Given the description of an element on the screen output the (x, y) to click on. 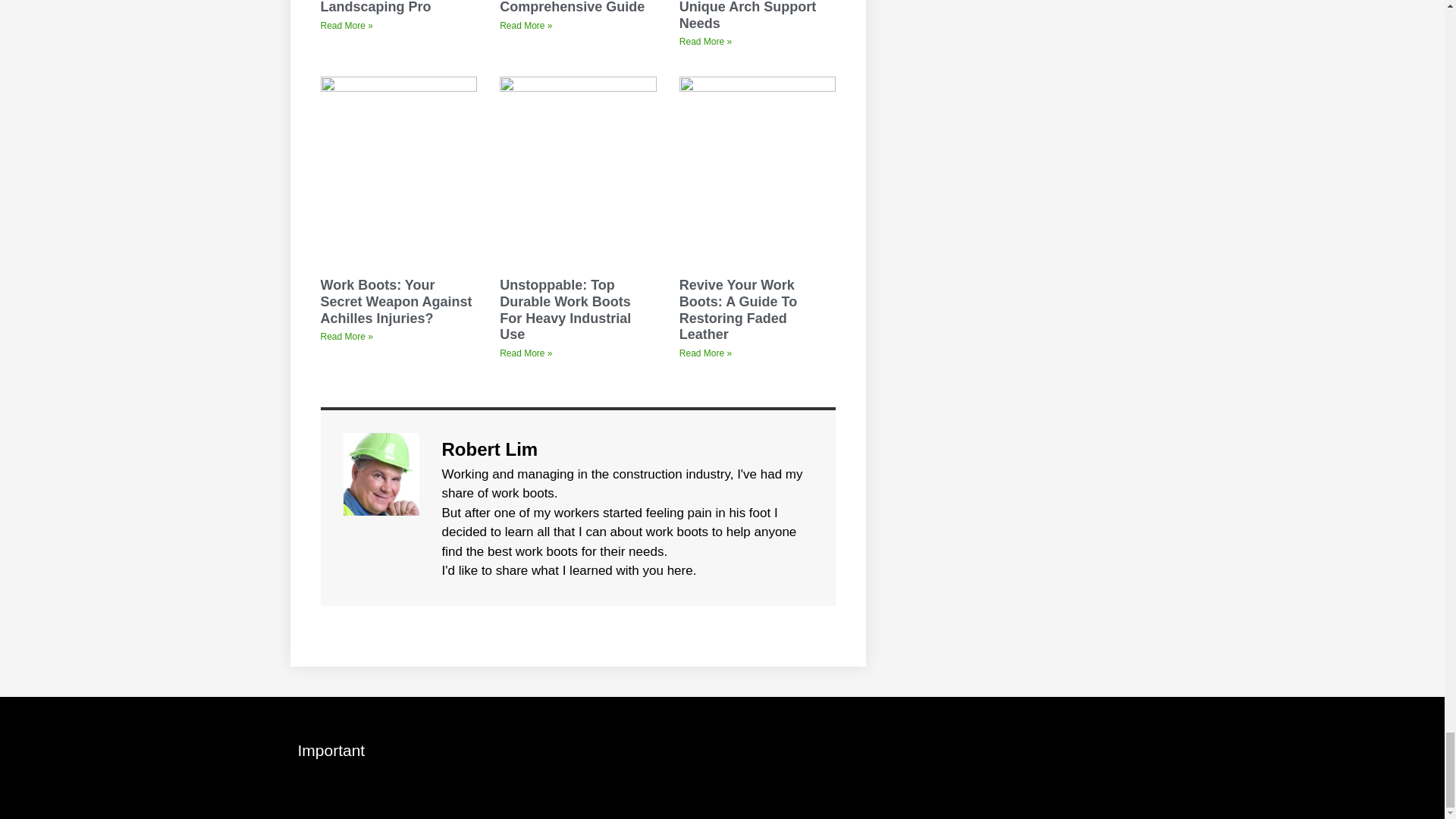
Unstoppable: Top Durable Work Boots For Heavy Industrial Use (564, 309)
Work Boots: Your Secret Weapon Against Achilles Injuries? (395, 301)
Top-Rated Work Boots For The Modern Landscaping Pro (392, 7)
Revive Your Work Boots: A Guide To Restoring Faded Leather (737, 309)
Top-Notch Work Boots For Roofers: A Comprehensive Guide (572, 7)
